Given the description of an element on the screen output the (x, y) to click on. 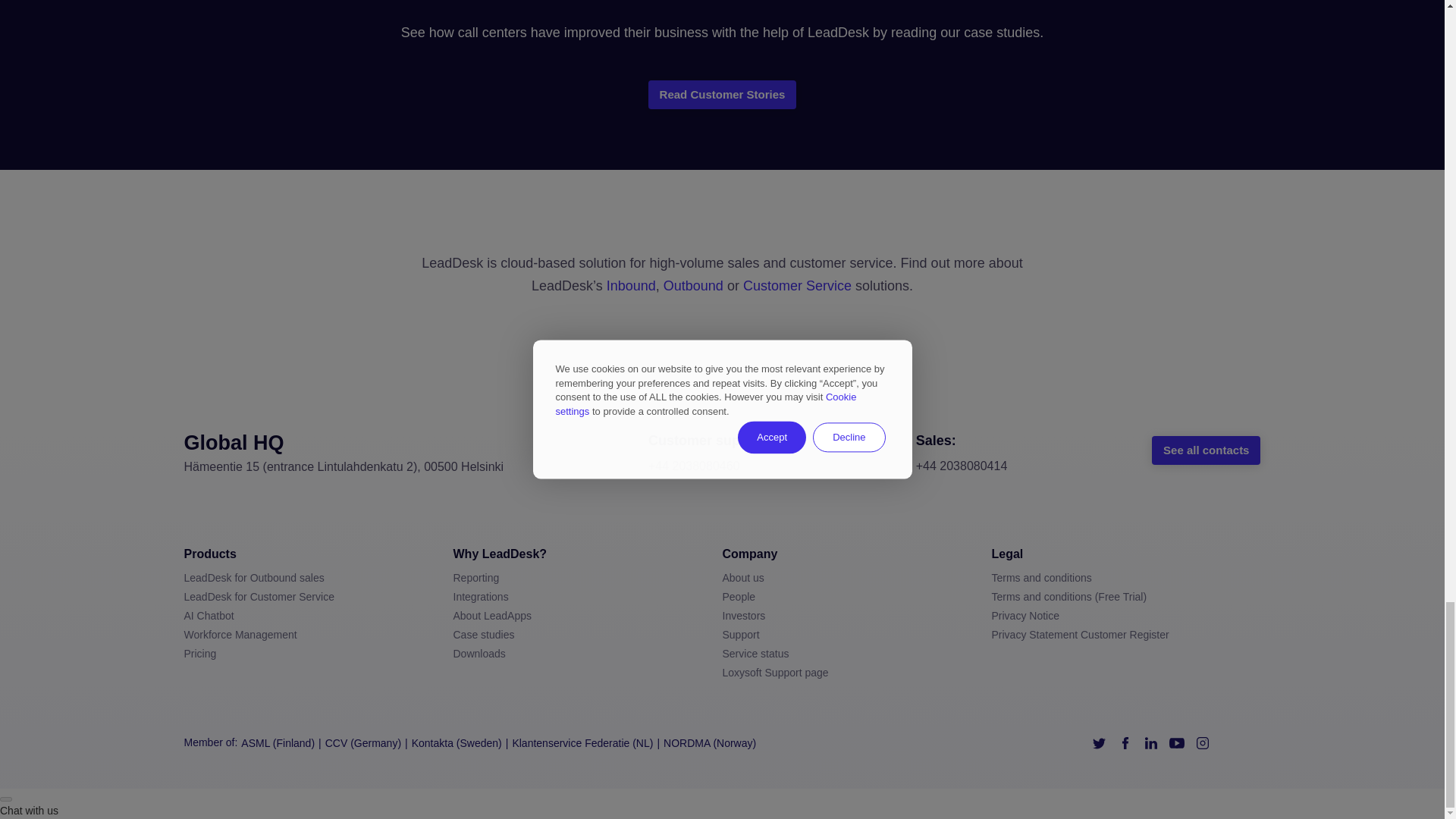
Twitter (1099, 743)
